Given the description of an element on the screen output the (x, y) to click on. 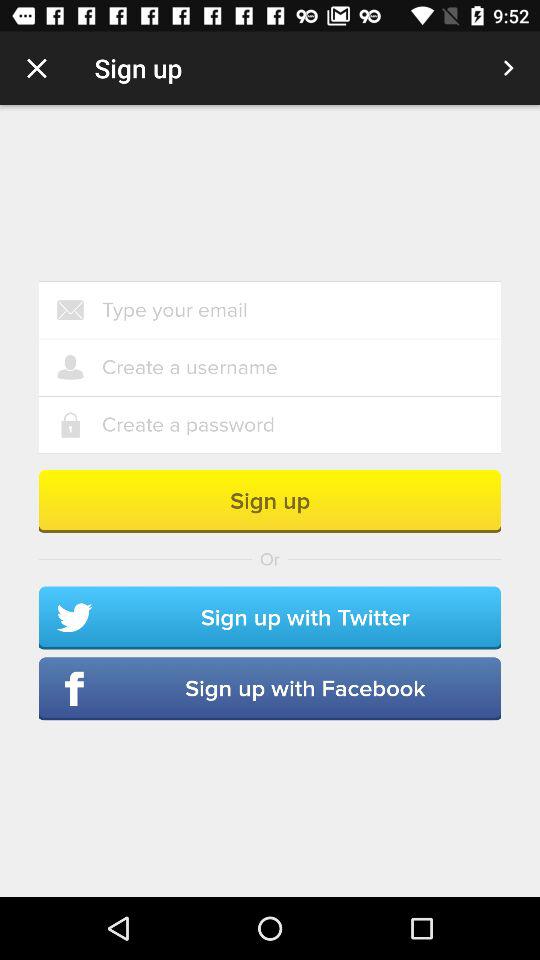
tap icon to the left of sign up icon (36, 68)
